Given the description of an element on the screen output the (x, y) to click on. 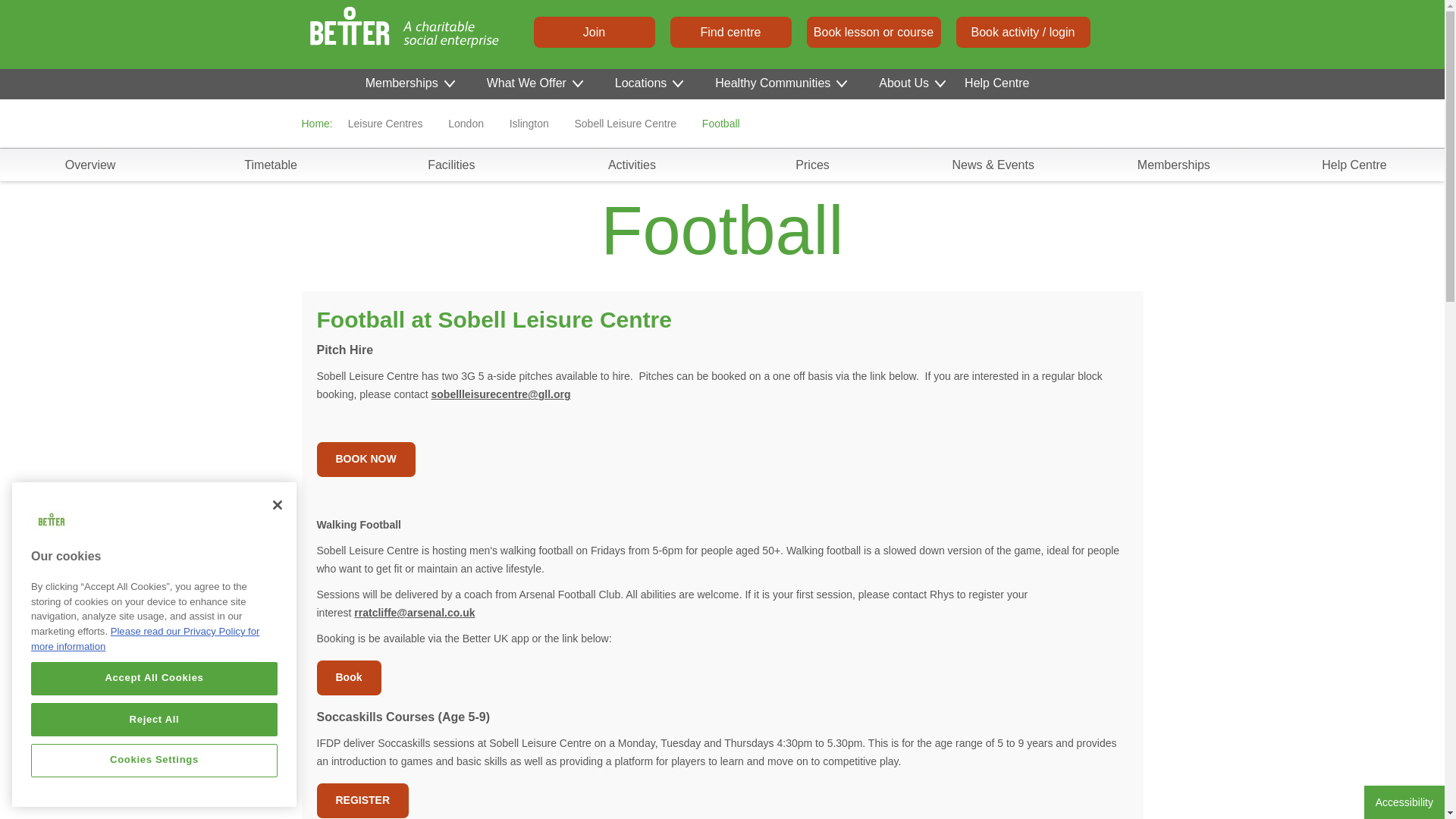
Timetable for Sobell Leisure Centre (269, 164)
Breadcrumb Separator (690, 122)
Join (594, 31)
Go to home (347, 34)
Find centre (730, 31)
Breadcrumb Separator (562, 122)
Overview for Sobell Leisure Centre (90, 164)
Company Logo (51, 546)
Memberships for Sobell Leisure Centre (1174, 164)
Memberships (408, 83)
